Given the description of an element on the screen output the (x, y) to click on. 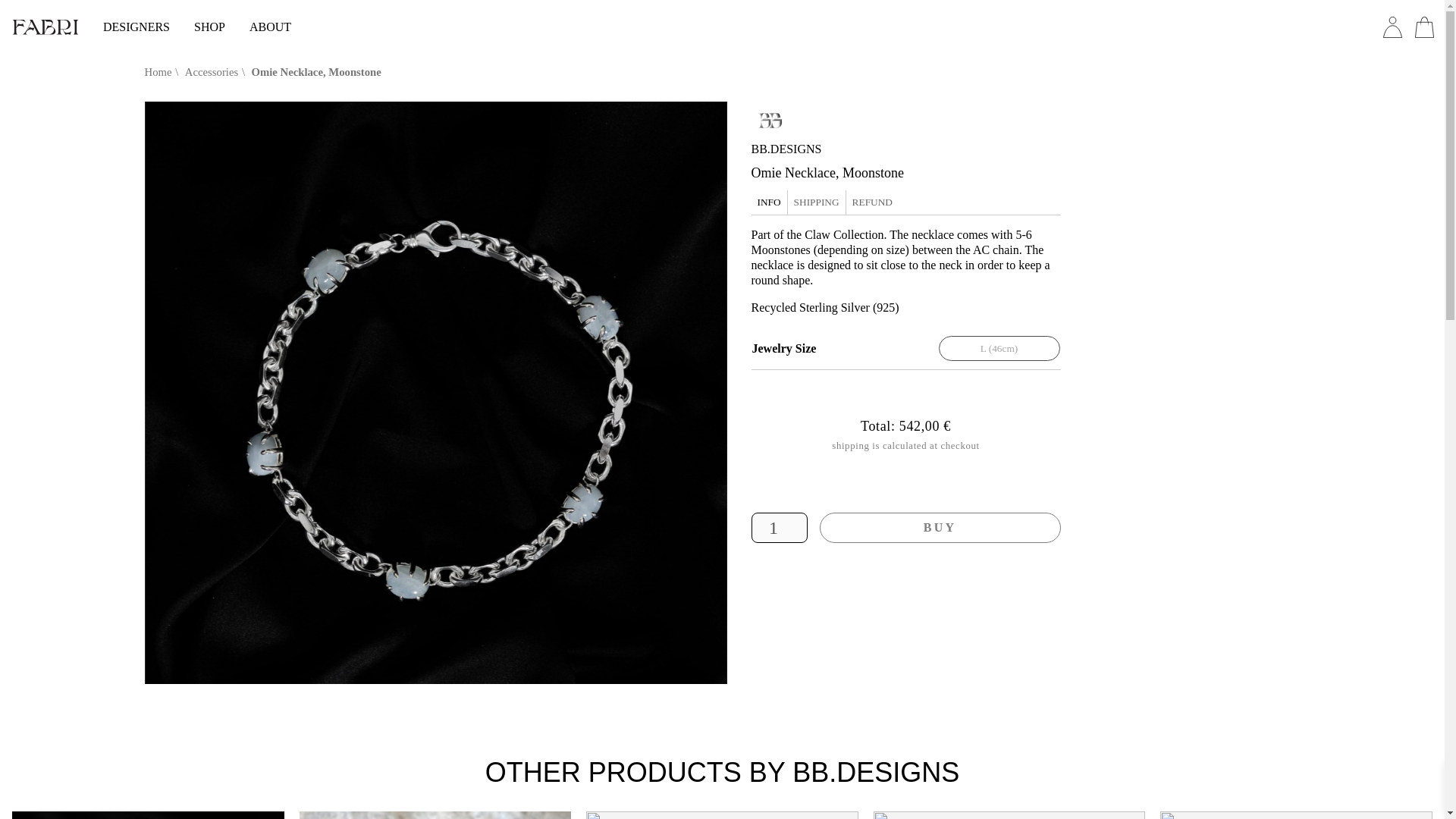
SHIPPING (816, 202)
My Account (1392, 26)
BB.DESIGNS (905, 149)
INFO (769, 202)
REFUND (871, 202)
SHOP (209, 27)
Accessories (214, 71)
BUY (938, 527)
DESIGNERS (136, 27)
1 (778, 527)
